Given the description of an element on the screen output the (x, y) to click on. 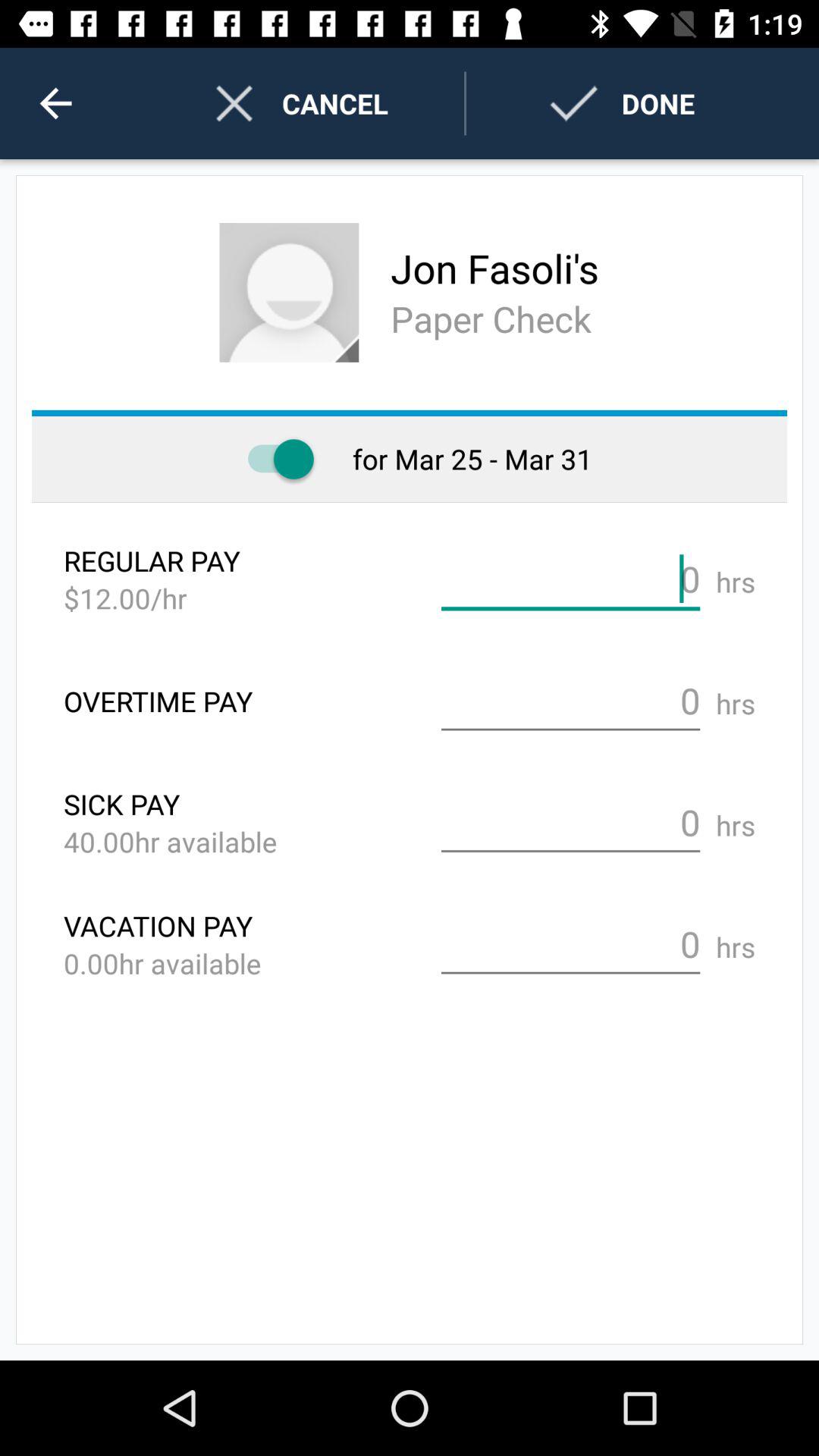
input field overtime pay (570, 701)
